Given the description of an element on the screen output the (x, y) to click on. 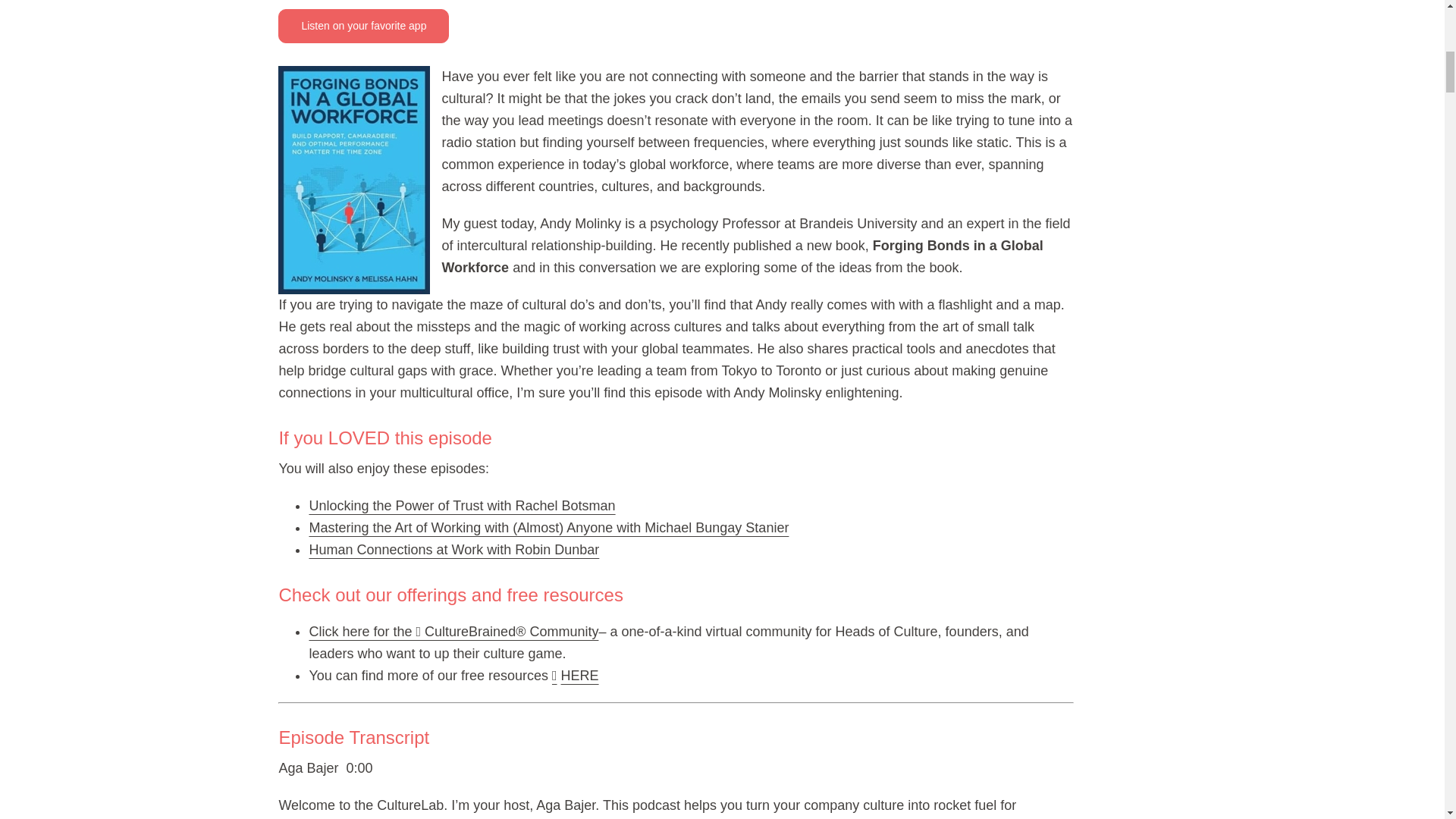
Human Connections at Work with Robin Dunbar (453, 549)
Unlocking the Power of Trust with Rachel Botsman (461, 505)
Listen on your favorite app (363, 26)
HERE (579, 675)
